Given the description of an element on the screen output the (x, y) to click on. 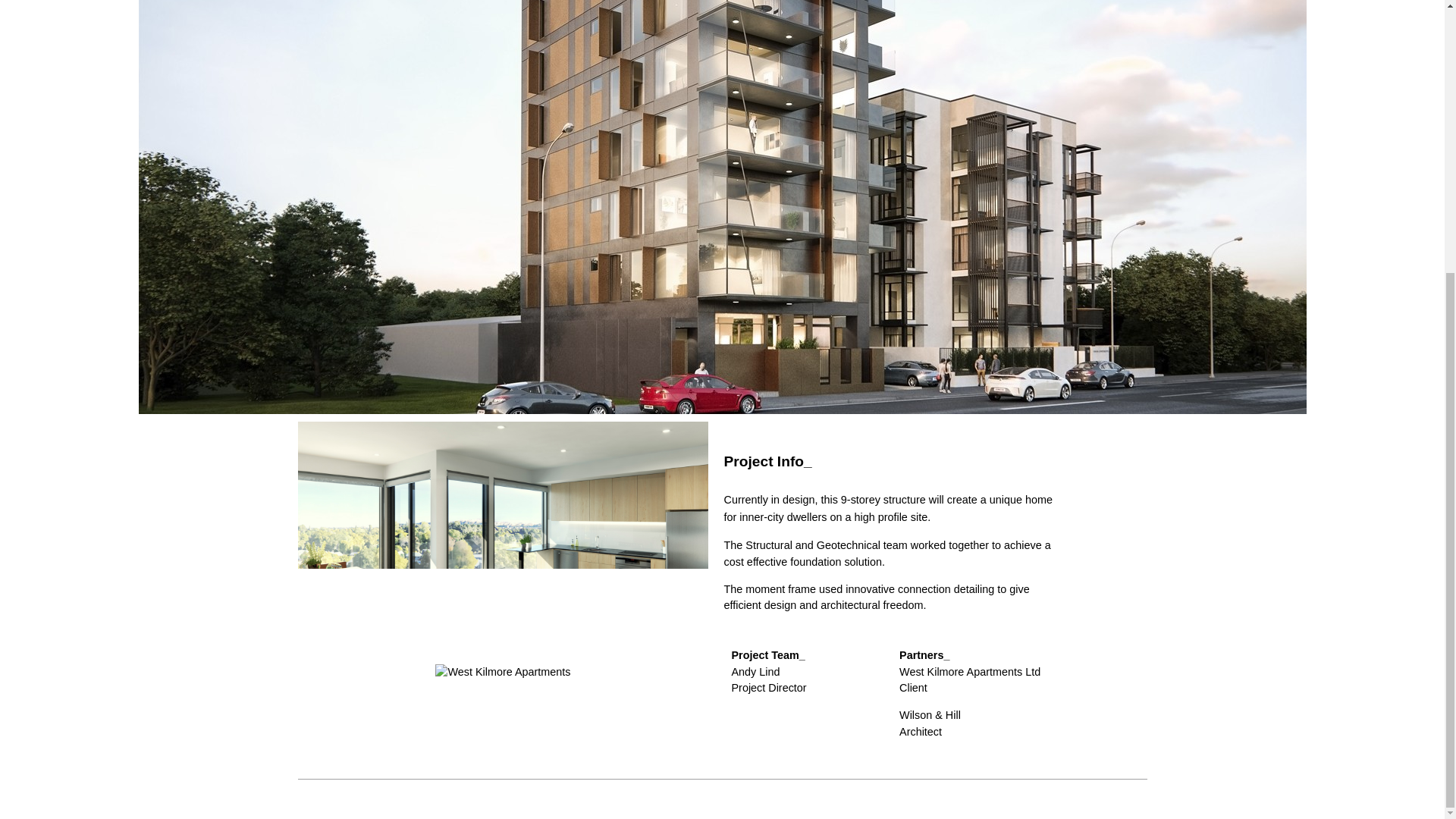
West Kilmore Apartments (502, 672)
